Given the description of an element on the screen output the (x, y) to click on. 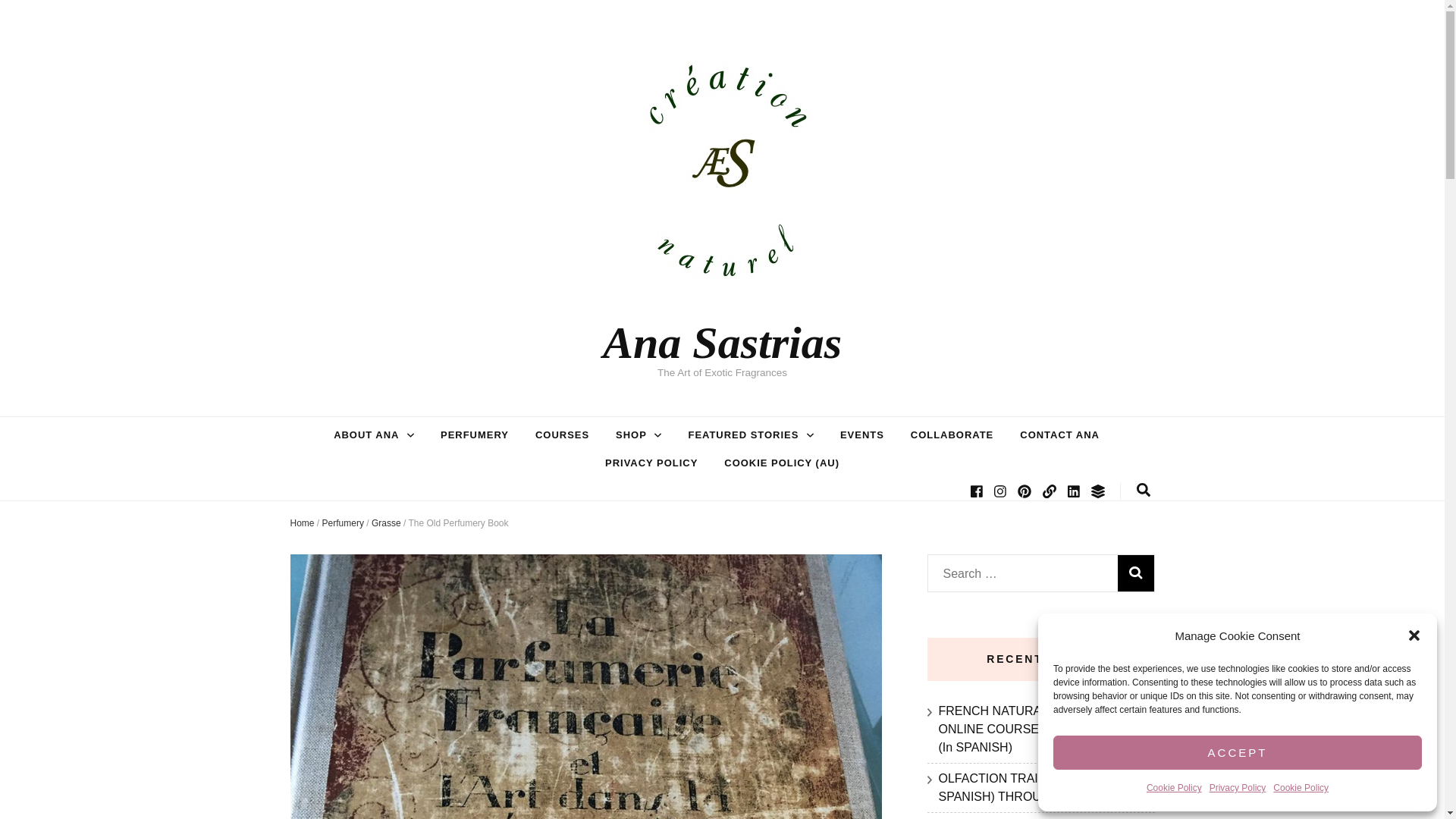
PRIVACY POLICY (651, 463)
Cookie Policy (1299, 788)
COURSES (562, 435)
Ana Sastrias (721, 342)
Perfumery (342, 522)
SHOP (630, 435)
PERFUMERY (474, 435)
COLLABORATE (951, 435)
EVENTS (861, 435)
Grasse (386, 522)
Search (1136, 573)
FEATURED STORIES (742, 435)
Search (1136, 573)
ABOUT ANA (365, 435)
CONTACT ANA (1059, 435)
